Given the description of an element on the screen output the (x, y) to click on. 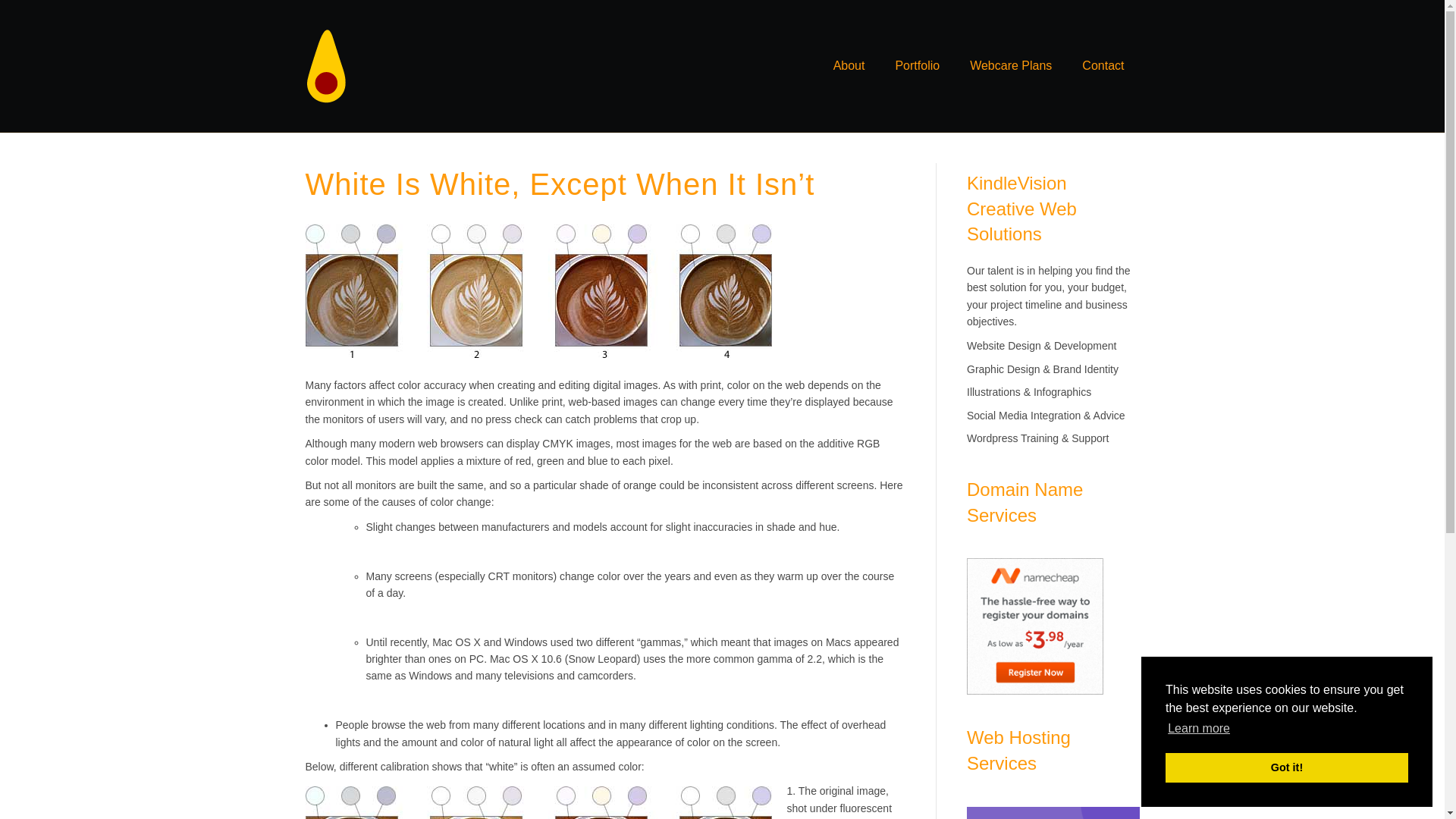
Contact (1102, 65)
Portfolio (917, 65)
Got it! (1286, 767)
About (849, 65)
Webcare Plans (1011, 65)
real-white (537, 802)
ChemiCloud - Excellent Web Hosting Services (1053, 812)
Learn more (1198, 728)
